Given the description of an element on the screen output the (x, y) to click on. 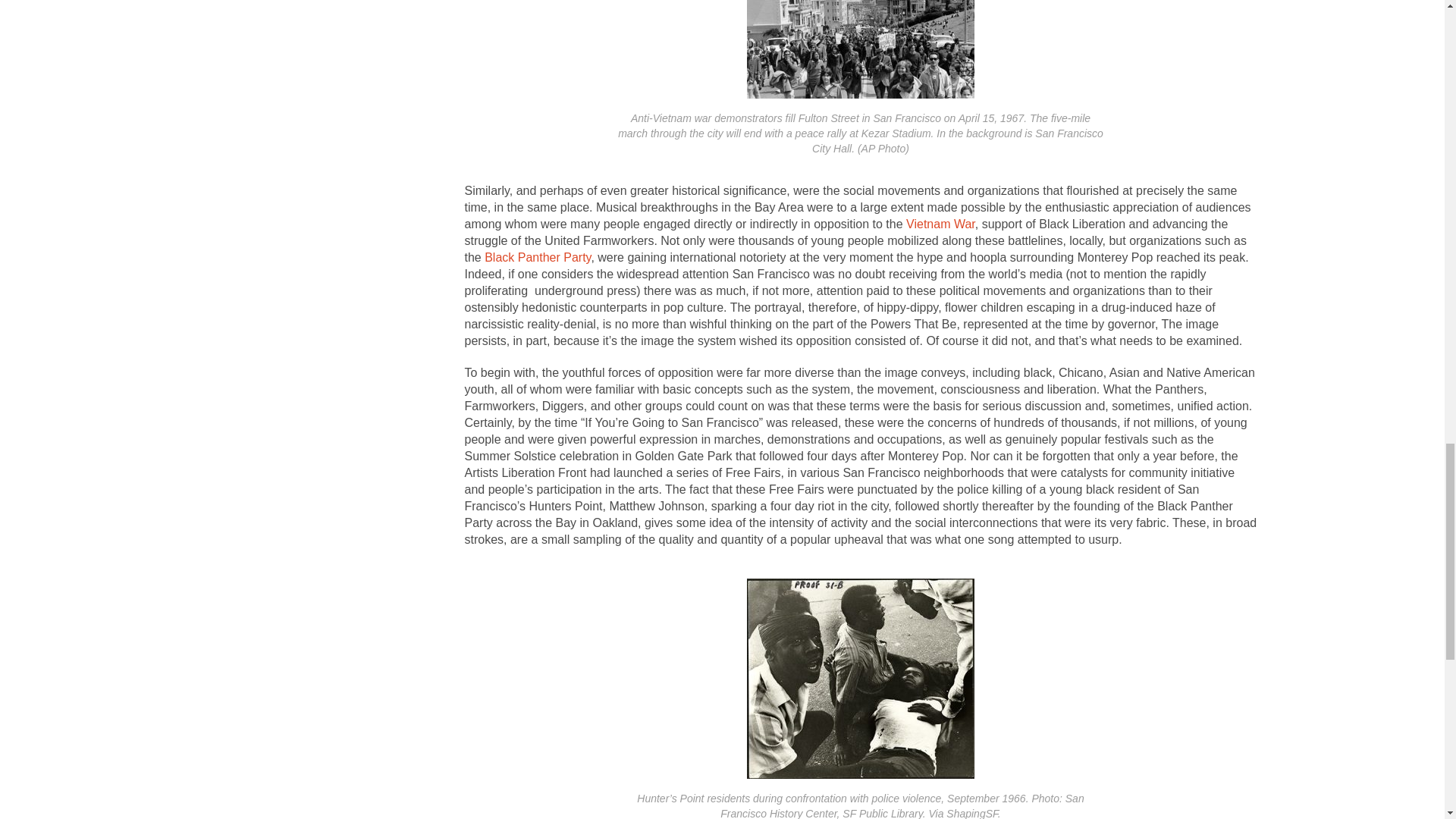
Black Panther Party (537, 256)
Vietnam War (940, 223)
